Given the description of an element on the screen output the (x, y) to click on. 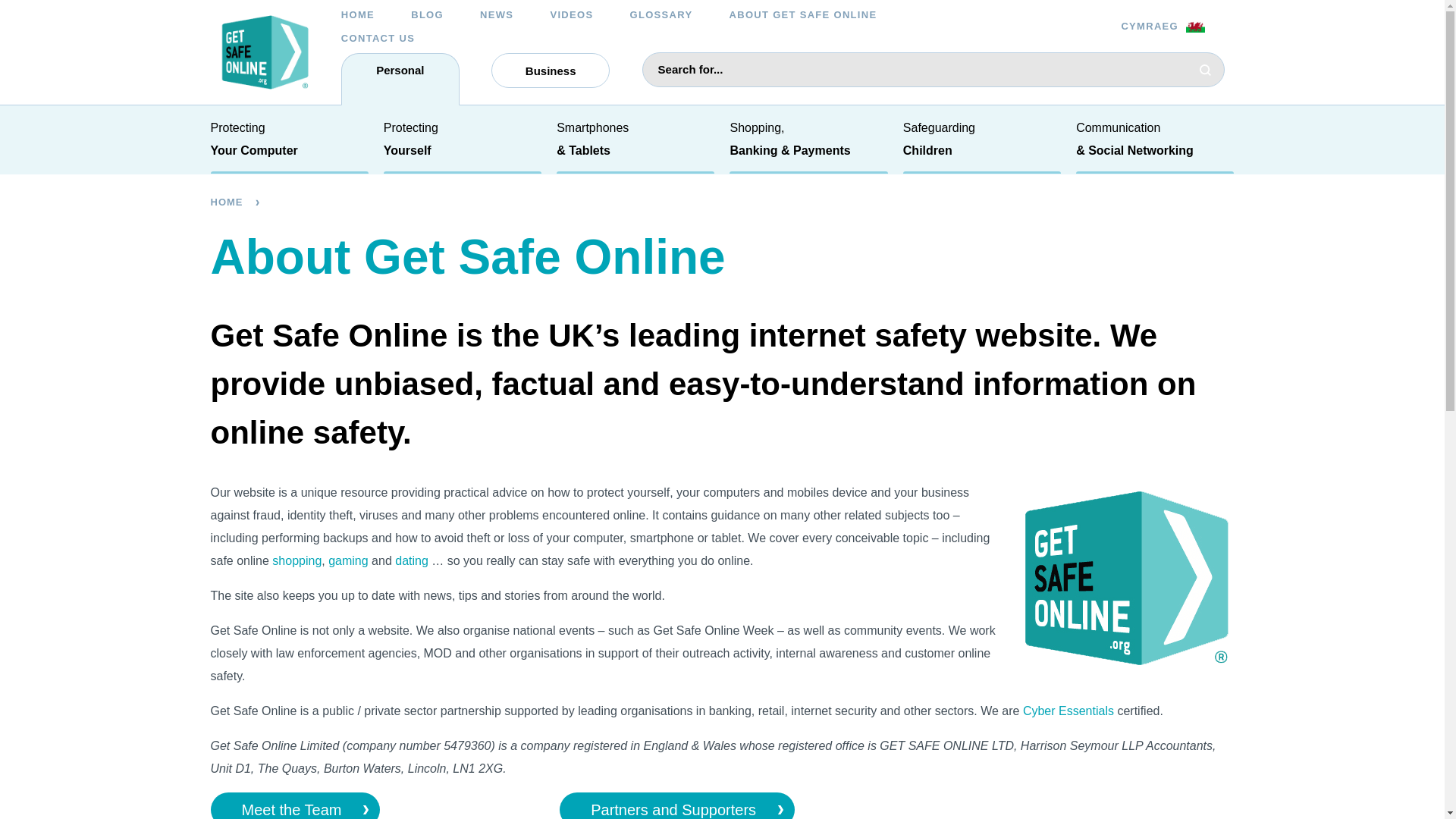
Search (1205, 69)
Search (1205, 69)
Business (551, 70)
Search (1214, 792)
Personal (400, 79)
